Given the description of an element on the screen output the (x, y) to click on. 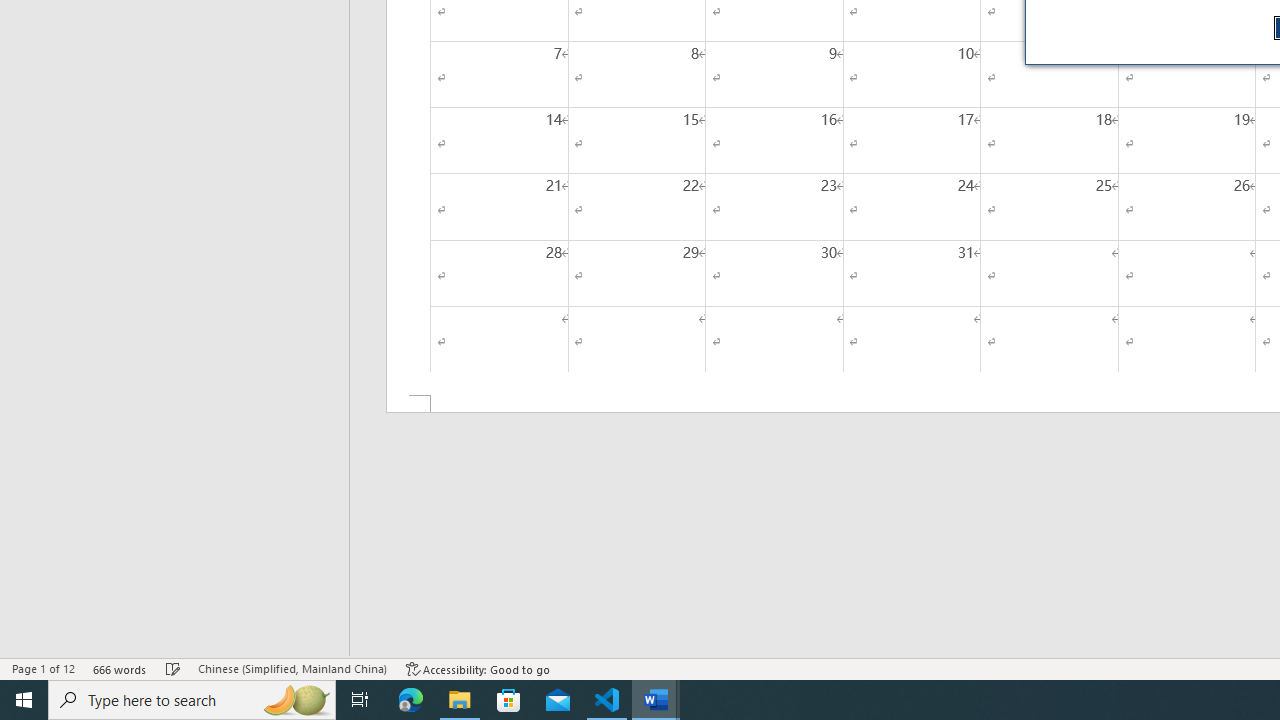
Type here to search (191, 699)
